Given the description of an element on the screen output the (x, y) to click on. 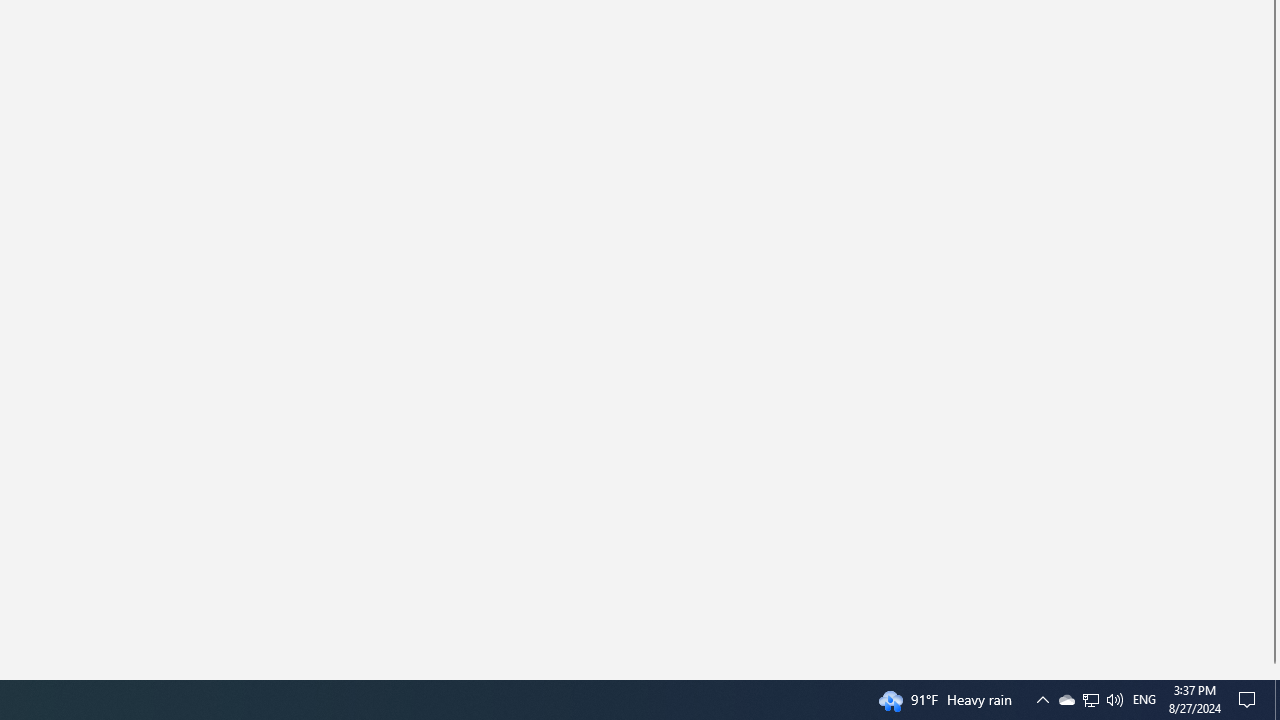
Q2790: 100% (1114, 699)
Tray Input Indicator - English (United States) (1066, 699)
User Promoted Notification Area (1091, 699)
Show desktop (1144, 699)
Vertical Small Increase (1090, 699)
Notification Chevron (1277, 699)
Action Center, No new notifications (1272, 672)
